Given the description of an element on the screen output the (x, y) to click on. 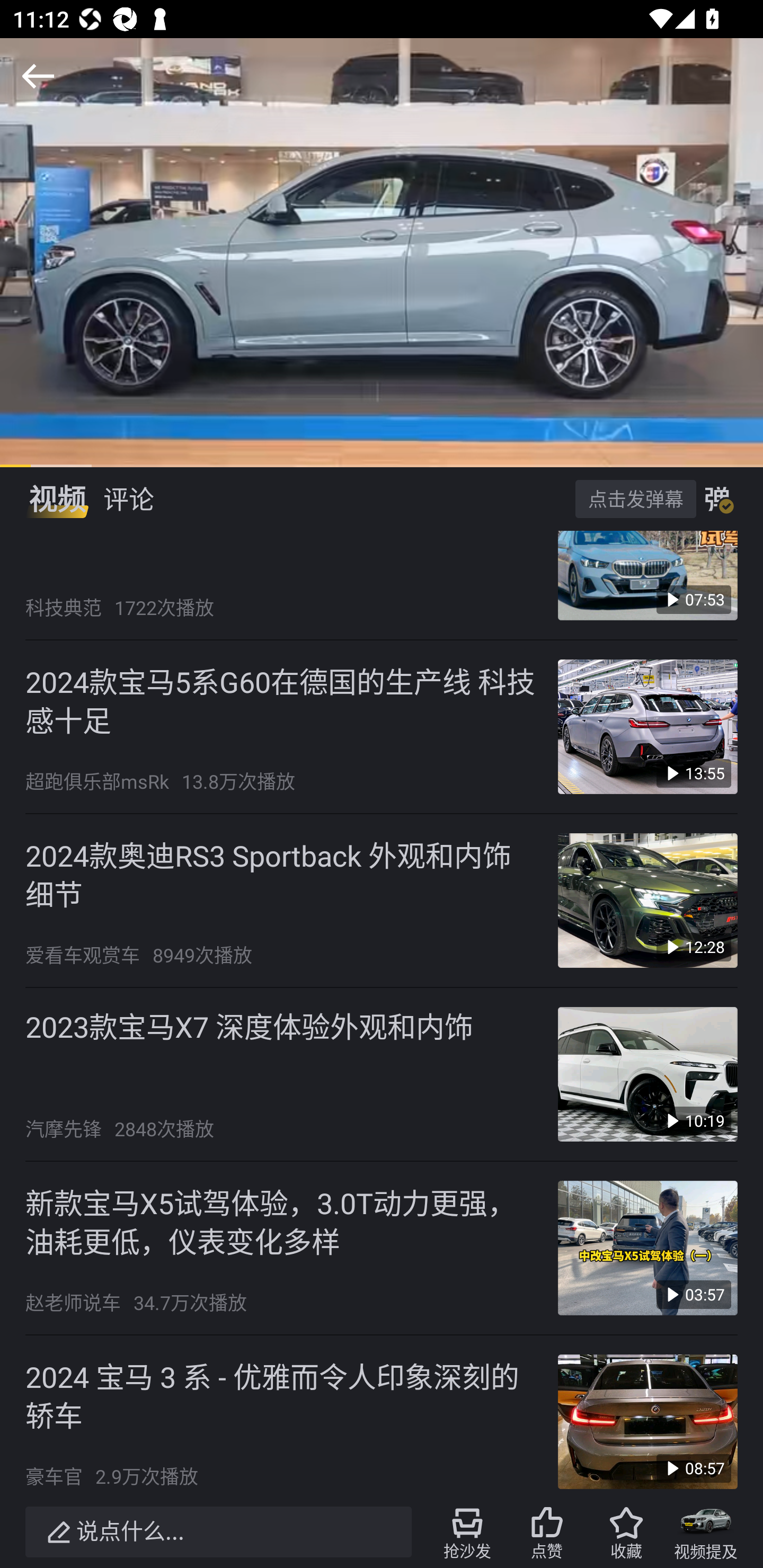
4.0 (381, 252)
 (38, 75)
视频 (57, 499)
评论 (128, 499)
点击发弹幕 (635, 498)
科技典范 1722次播放  07:53 (381, 585)
2023款宝马X7 深度体验外观和内饰 汽摩先锋 2848次播放  10:19 (381, 1074)
2024 宝马 3 系 - 优雅而令人印象深刻的轿车 豪车官 2.9万次播放  08:57 (381, 1415)
 抢沙发 (467, 1531)
点赞 (546, 1531)
收藏 (625, 1531)
视频提及 (705, 1531)
 说点什么... (218, 1531)
